Given the description of an element on the screen output the (x, y) to click on. 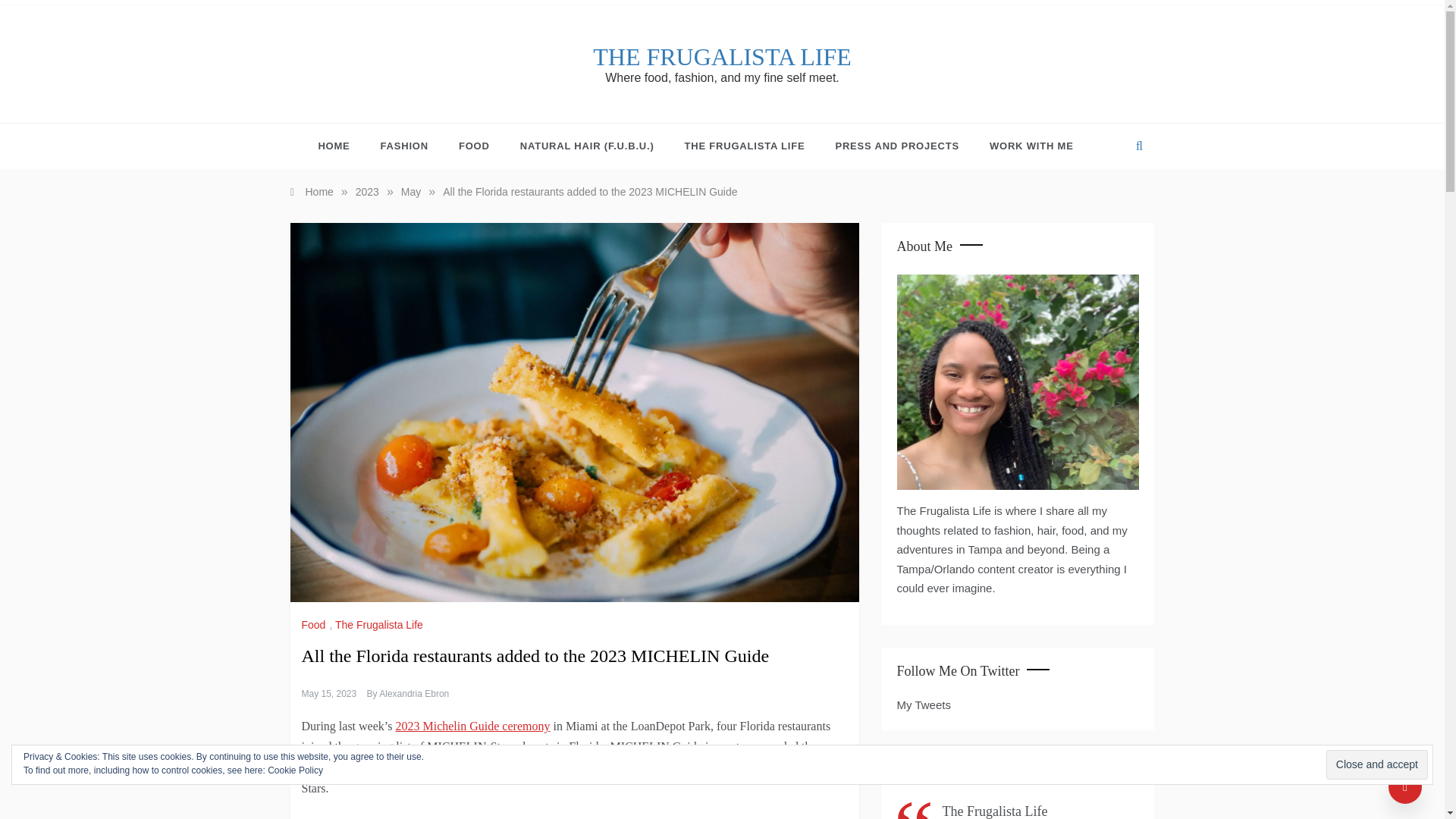
PRESS AND PROJECTS (896, 145)
THE FRUGALISTA LIFE (721, 56)
Alexandria Ebron (413, 693)
HOME (341, 145)
Go to Top (1405, 786)
Food (315, 624)
The Frugalista Life (380, 624)
Close and accept (1377, 764)
FASHION (404, 145)
The Frugalista Life (948, 776)
2023 Michelin Guide ceremony (472, 725)
My Tweets (923, 704)
FOOD (474, 145)
All the Florida restaurants added to the 2023 MICHELIN Guide (589, 191)
2023 (366, 191)
